Given the description of an element on the screen output the (x, y) to click on. 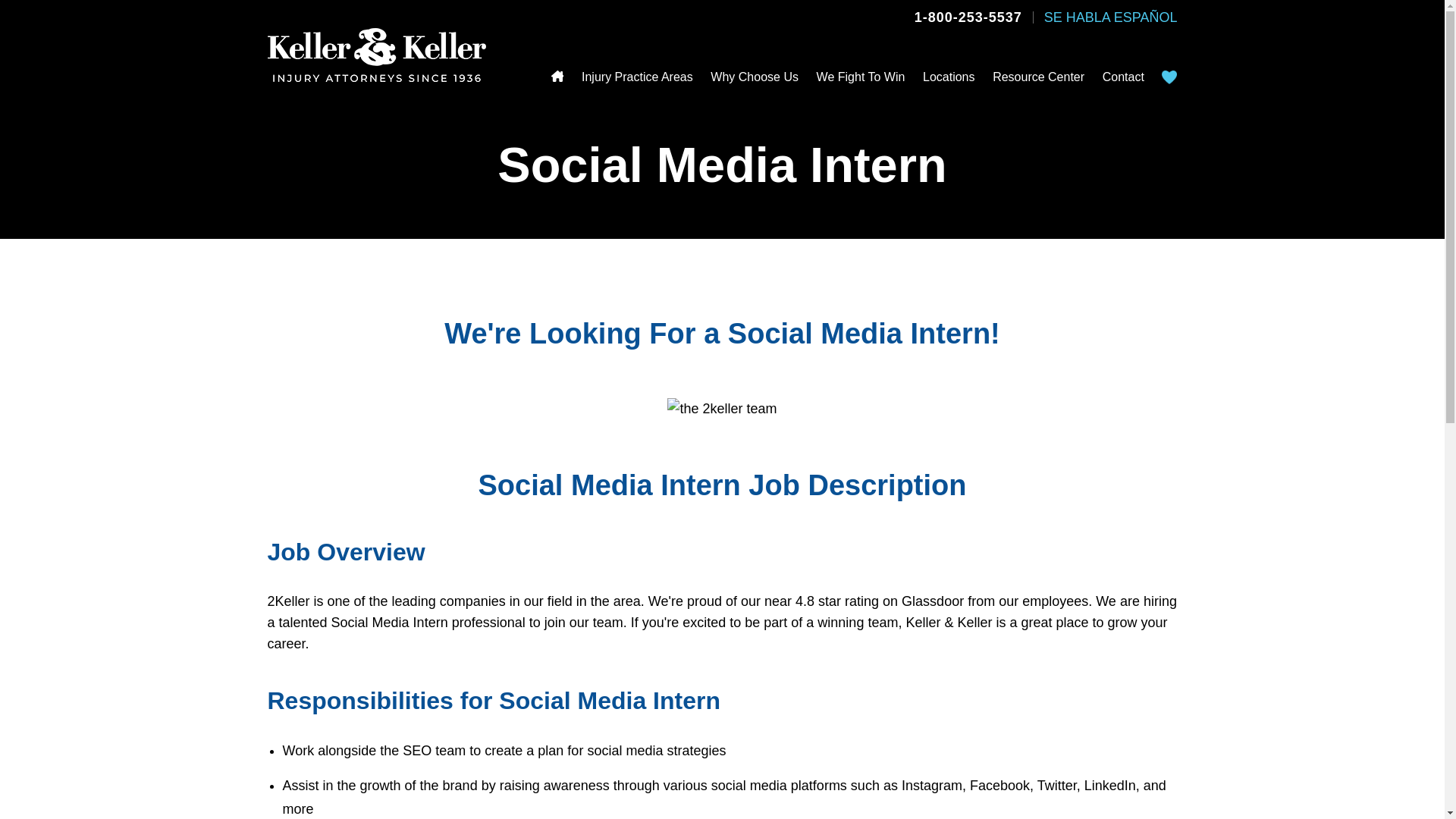
Injury Practice Areas (636, 77)
We Fight To Win (860, 77)
1-800-253-5537 (968, 17)
Locations (949, 77)
Why Choose Us (753, 77)
